Given the description of an element on the screen output the (x, y) to click on. 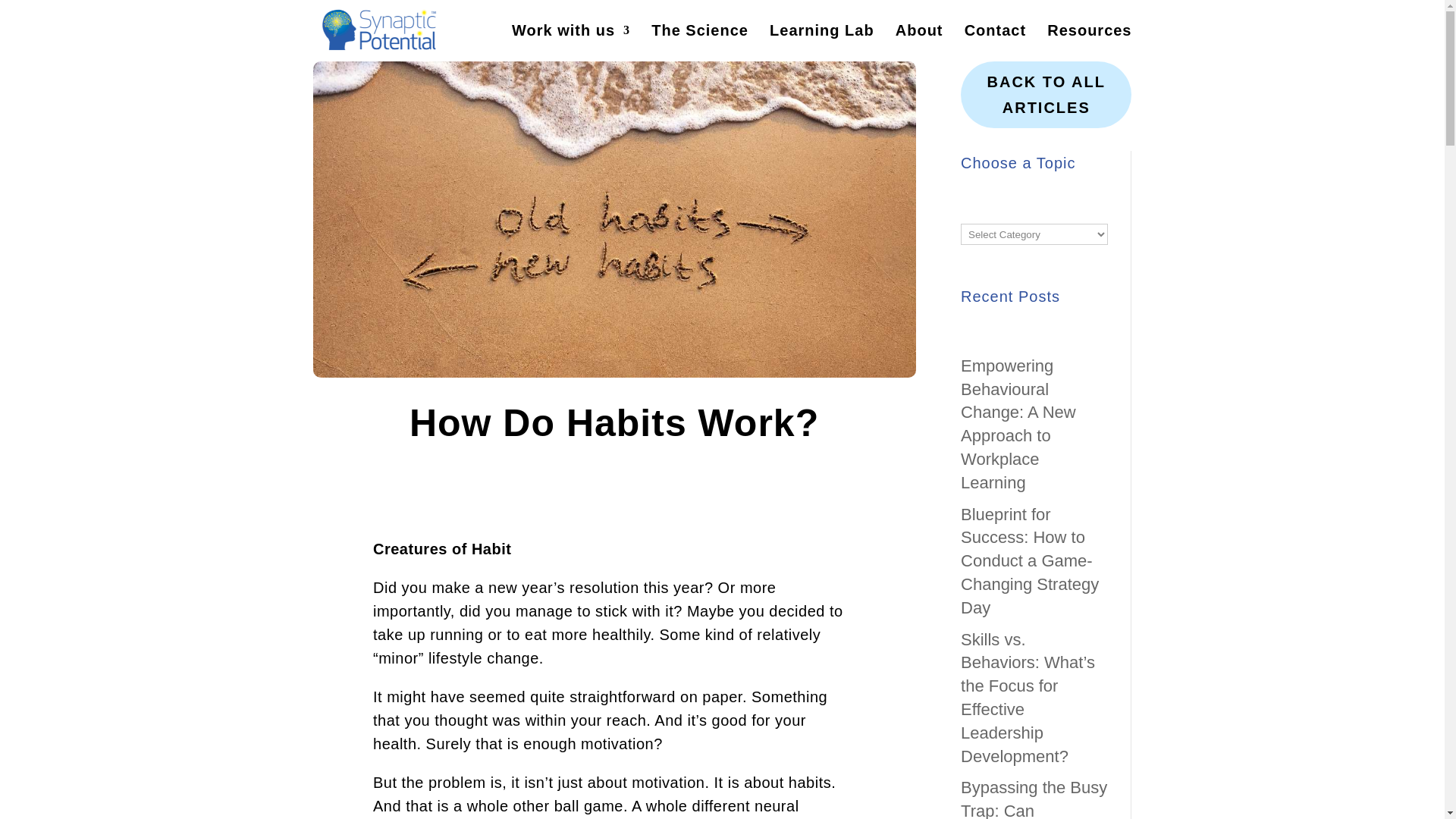
The Science (699, 42)
BACK TO ALL ARTICLES (1045, 94)
Learning Lab (822, 42)
Contact (994, 42)
About (919, 42)
Work with us (571, 42)
Resources (1088, 42)
